Given the description of an element on the screen output the (x, y) to click on. 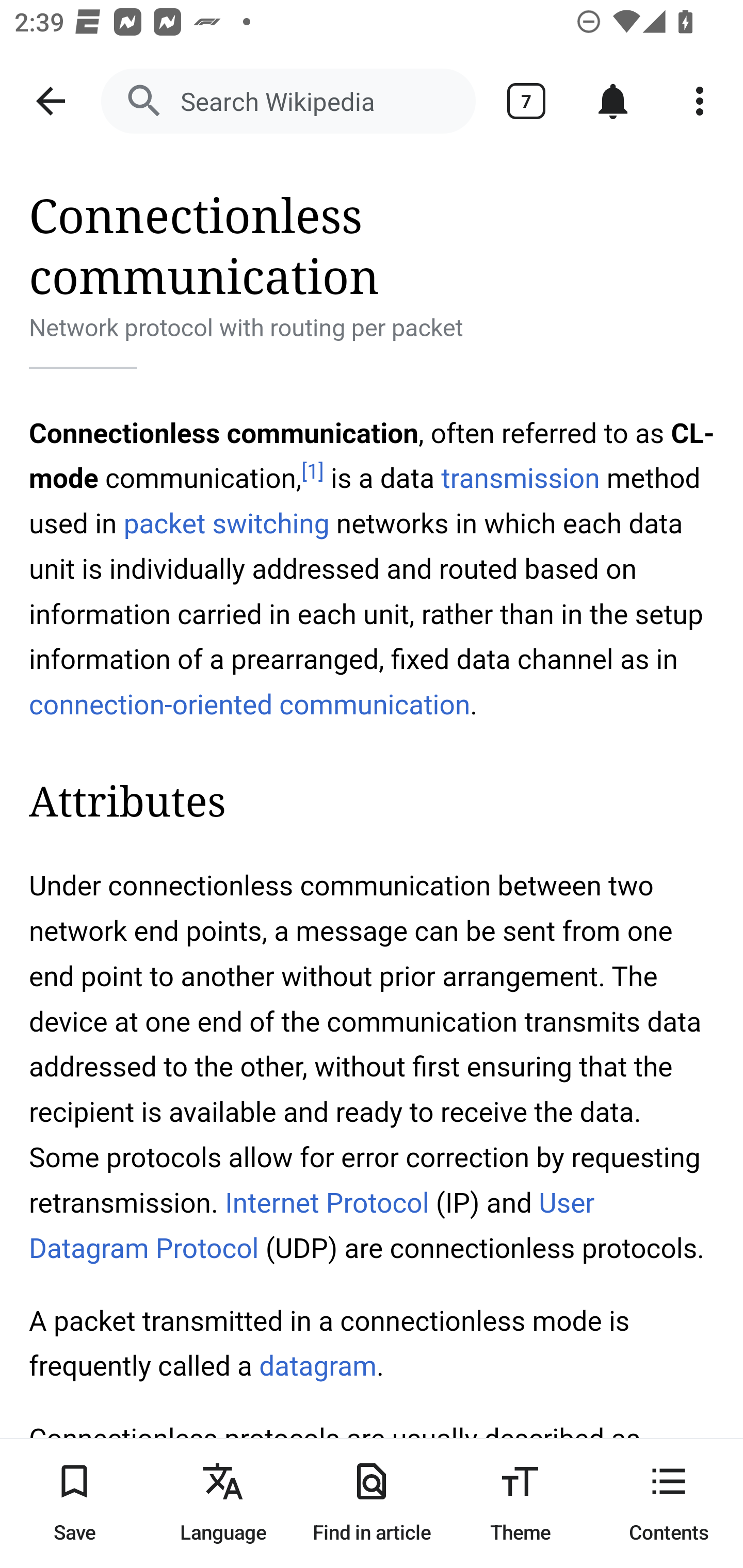
Show tabs 7 (525, 100)
Notifications (612, 100)
Navigate up (50, 101)
More options (699, 101)
Search Wikipedia (288, 100)
[] [ 1 ] (312, 471)
transmission (520, 478)
packet switching (225, 523)
connection-oriented communication (249, 704)
User Datagram Protocol (311, 1225)
Internet Protocol (326, 1202)
datagram (317, 1367)
Save (74, 1502)
Language (222, 1502)
Find in article (371, 1502)
Theme (519, 1502)
Contents (668, 1502)
